Given the description of an element on the screen output the (x, y) to click on. 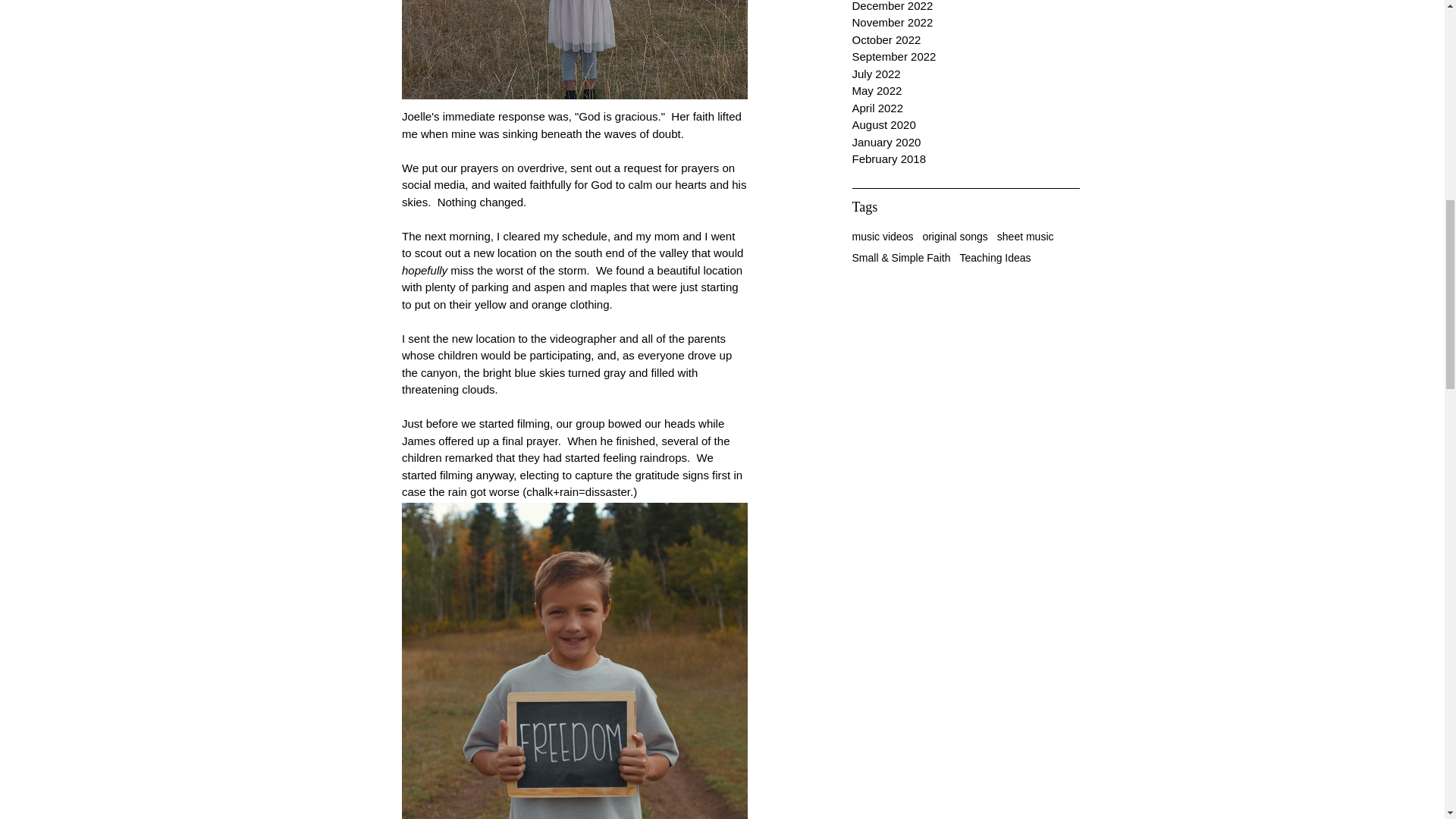
July 2022 (965, 74)
December 2022 (965, 7)
August 2020 (965, 125)
September 2022 (965, 57)
October 2022 (965, 40)
January 2020 (965, 142)
November 2022 (965, 22)
May 2022 (965, 90)
April 2022 (965, 108)
February 2018 (965, 159)
